Given the description of an element on the screen output the (x, y) to click on. 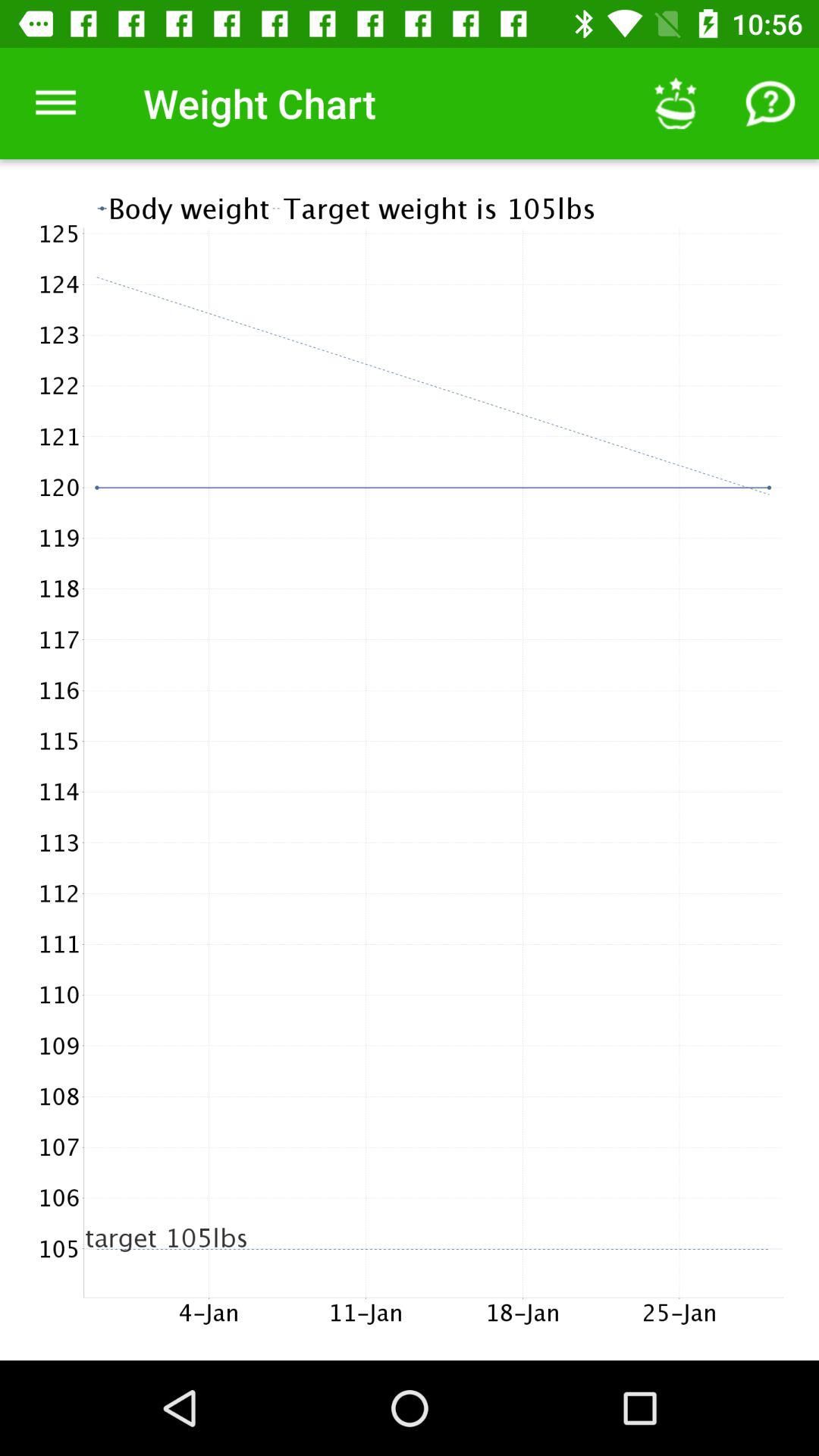
launch icon to the right of weight chart icon (675, 103)
